Given the description of an element on the screen output the (x, y) to click on. 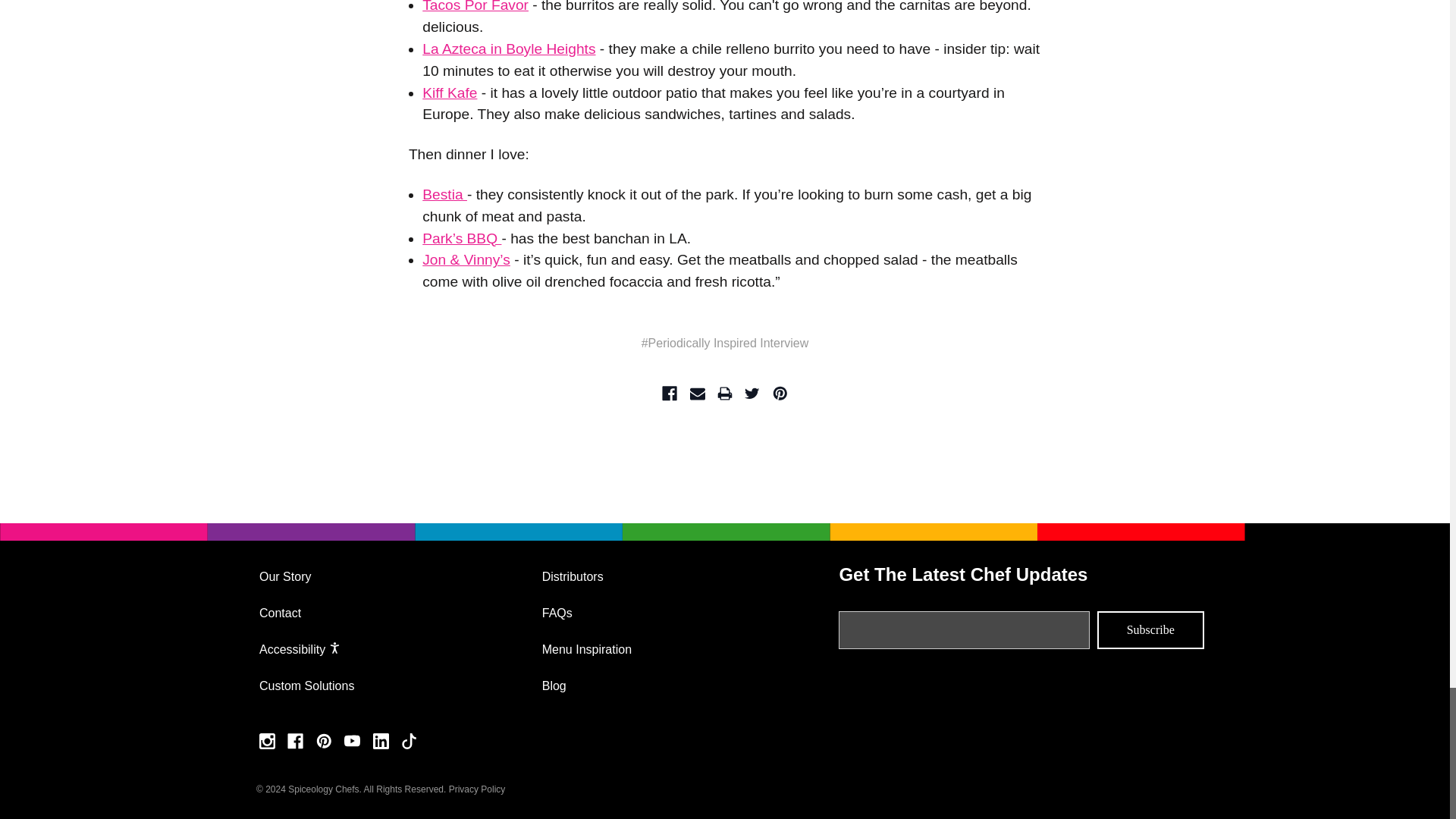
Facebook (669, 393)
Pinterest (780, 393)
Email (697, 393)
Print (724, 393)
Subscribe (1150, 629)
Twitter (752, 393)
